Given the description of an element on the screen output the (x, y) to click on. 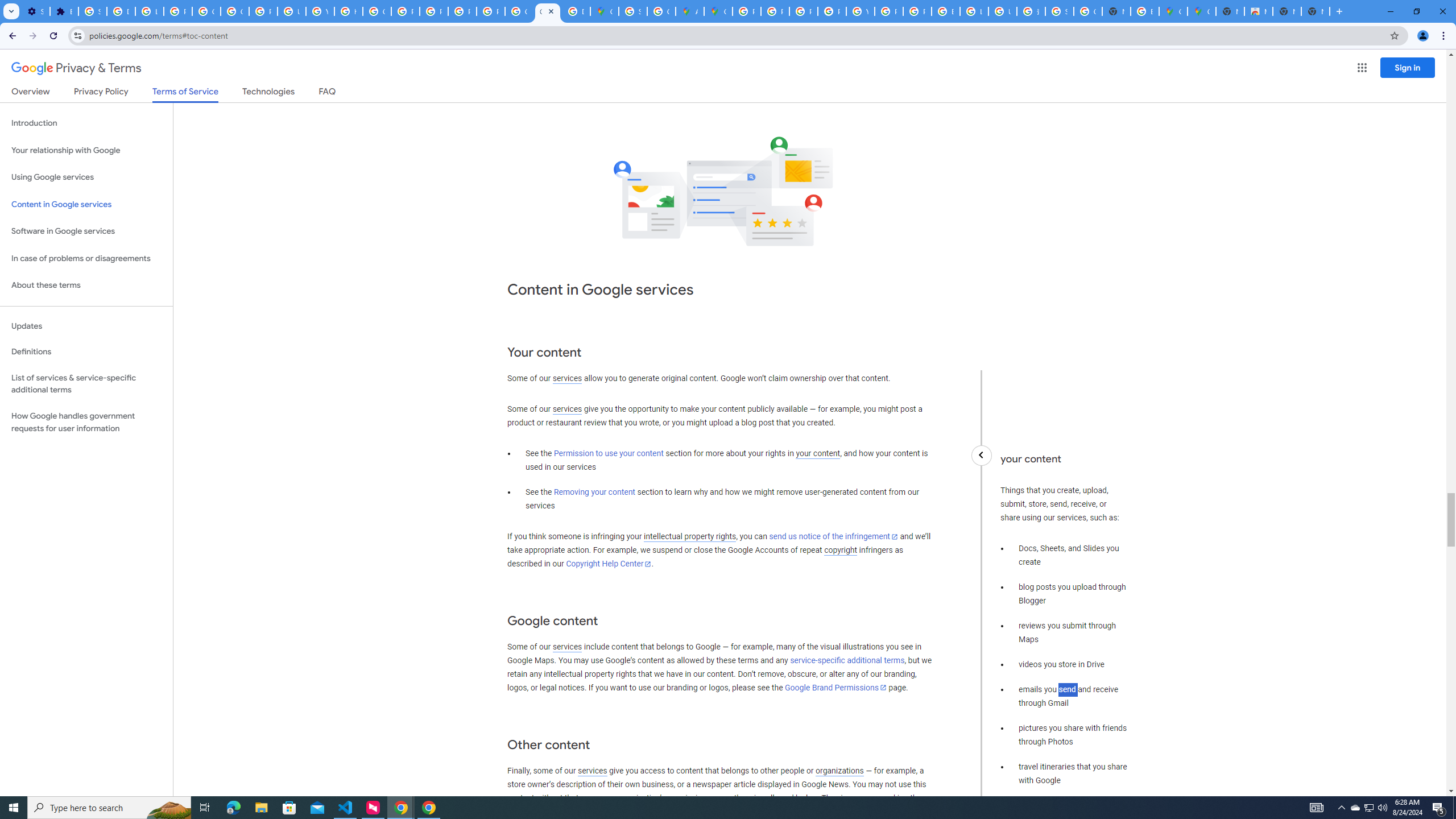
Sign in - Google Accounts (632, 11)
